Given the description of an element on the screen output the (x, y) to click on. 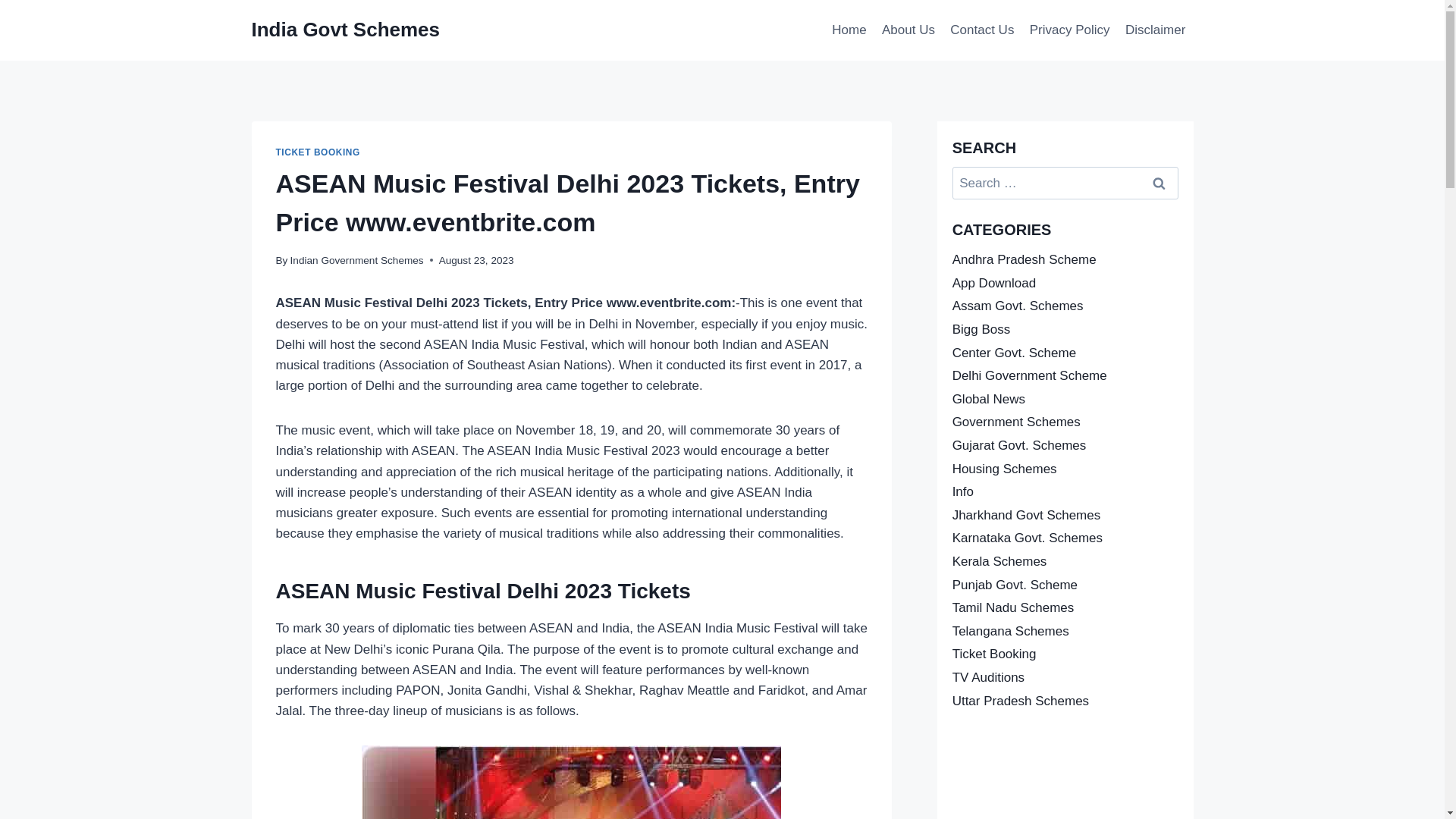
Search (1158, 183)
About Us (908, 30)
Search (1158, 183)
Disclaimer (1155, 30)
Home (849, 30)
Privacy Policy (1070, 30)
India Govt Schemes (346, 29)
Contact Us (982, 30)
TICKET BOOKING (317, 152)
Indian Government Schemes (356, 260)
